Given the description of an element on the screen output the (x, y) to click on. 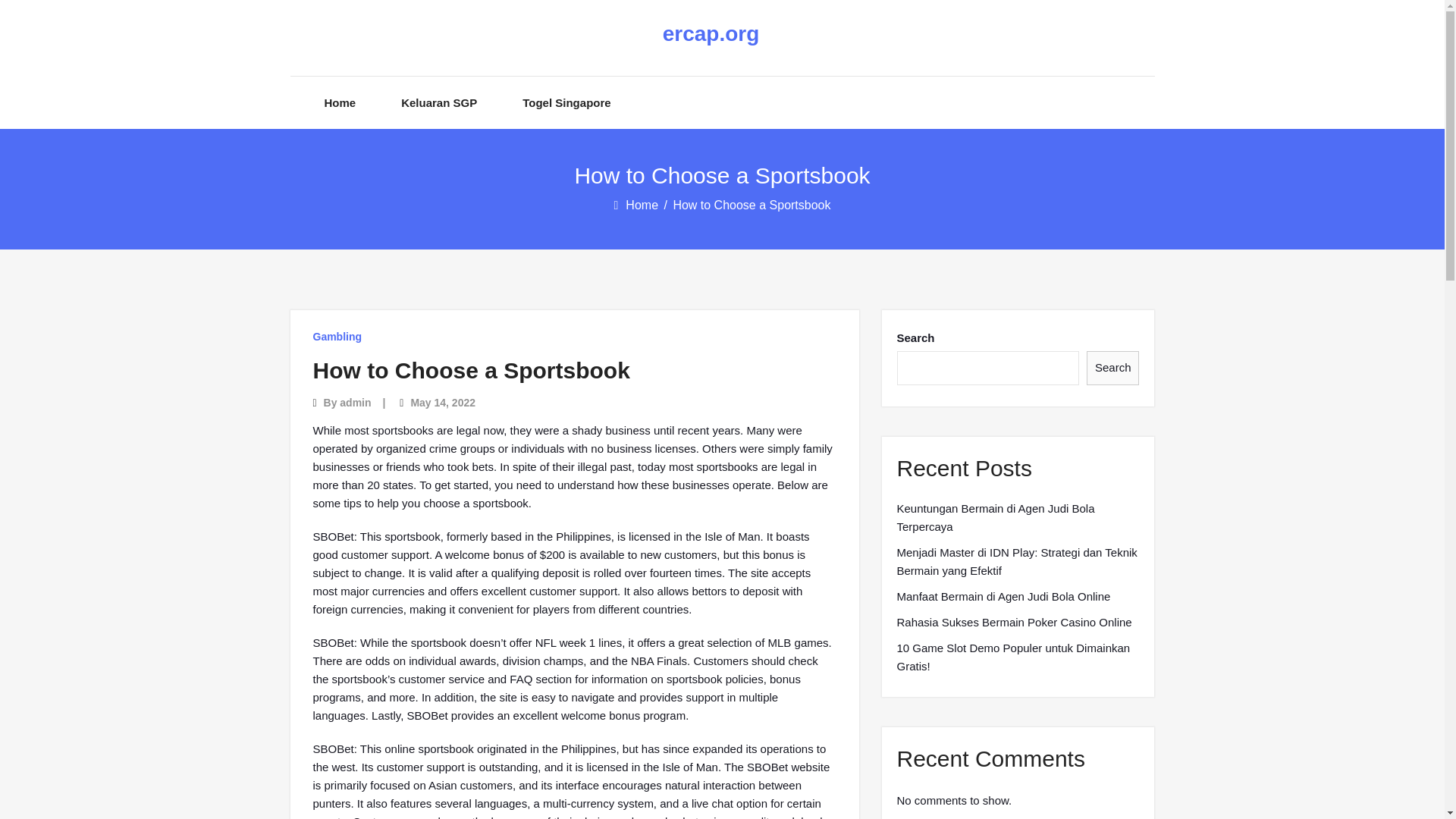
Rahasia Sukses Bermain Poker Casino Online (1013, 622)
Keuntungan Bermain di Agen Judi Bola Terpercaya (1017, 517)
Search (1113, 367)
Keluaran SGP (439, 102)
ercap.org (710, 34)
Gambling (337, 336)
Home (643, 205)
Togel Singapore (566, 102)
10 Game Slot Demo Populer untuk Dimainkan Gratis! (1017, 657)
admin (355, 402)
